Given the description of an element on the screen output the (x, y) to click on. 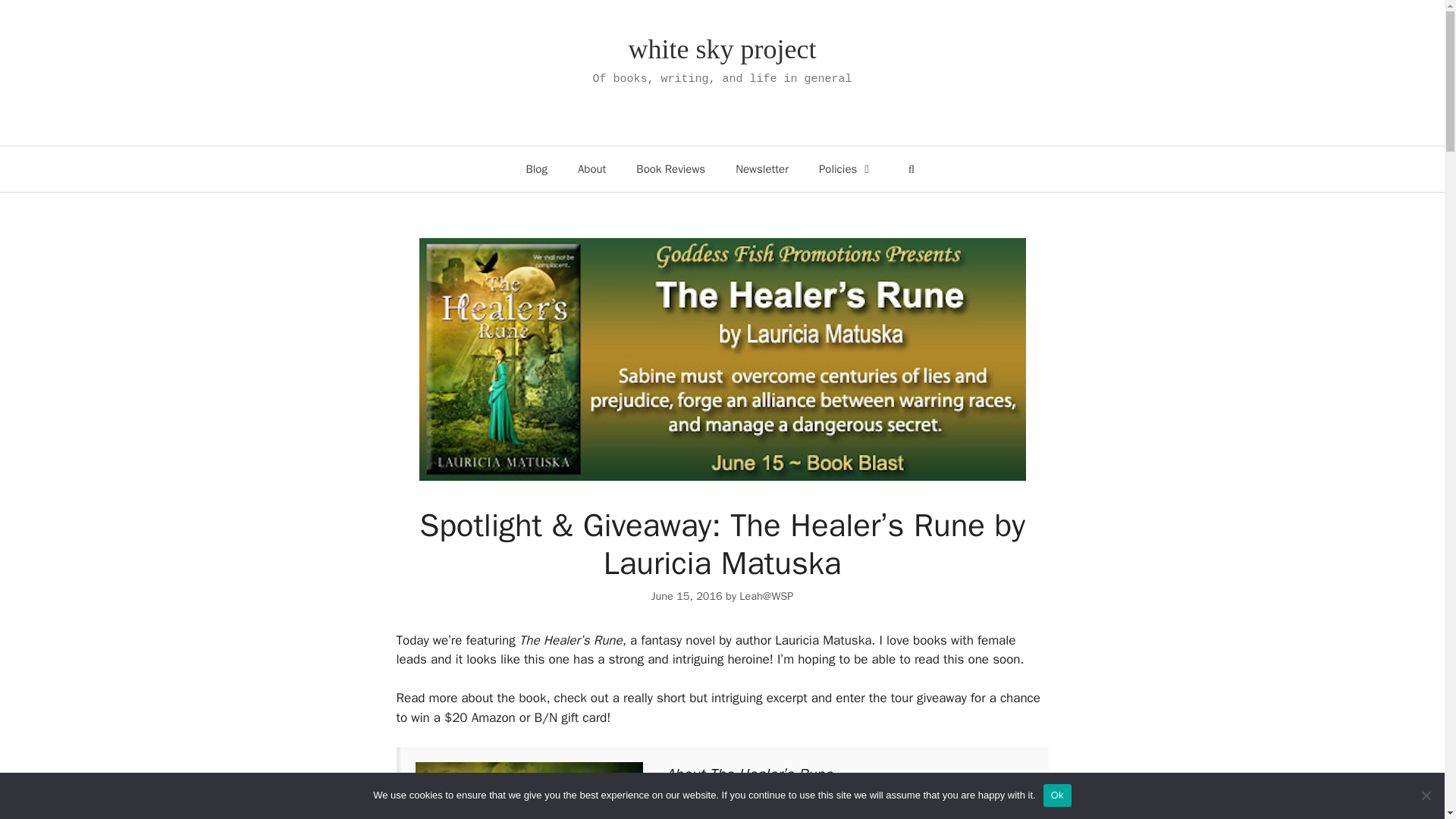
white sky project (722, 49)
Policies (845, 168)
Book Reviews (670, 168)
Blog (536, 168)
About (591, 168)
Newsletter (761, 168)
No (1425, 795)
